Given the description of an element on the screen output the (x, y) to click on. 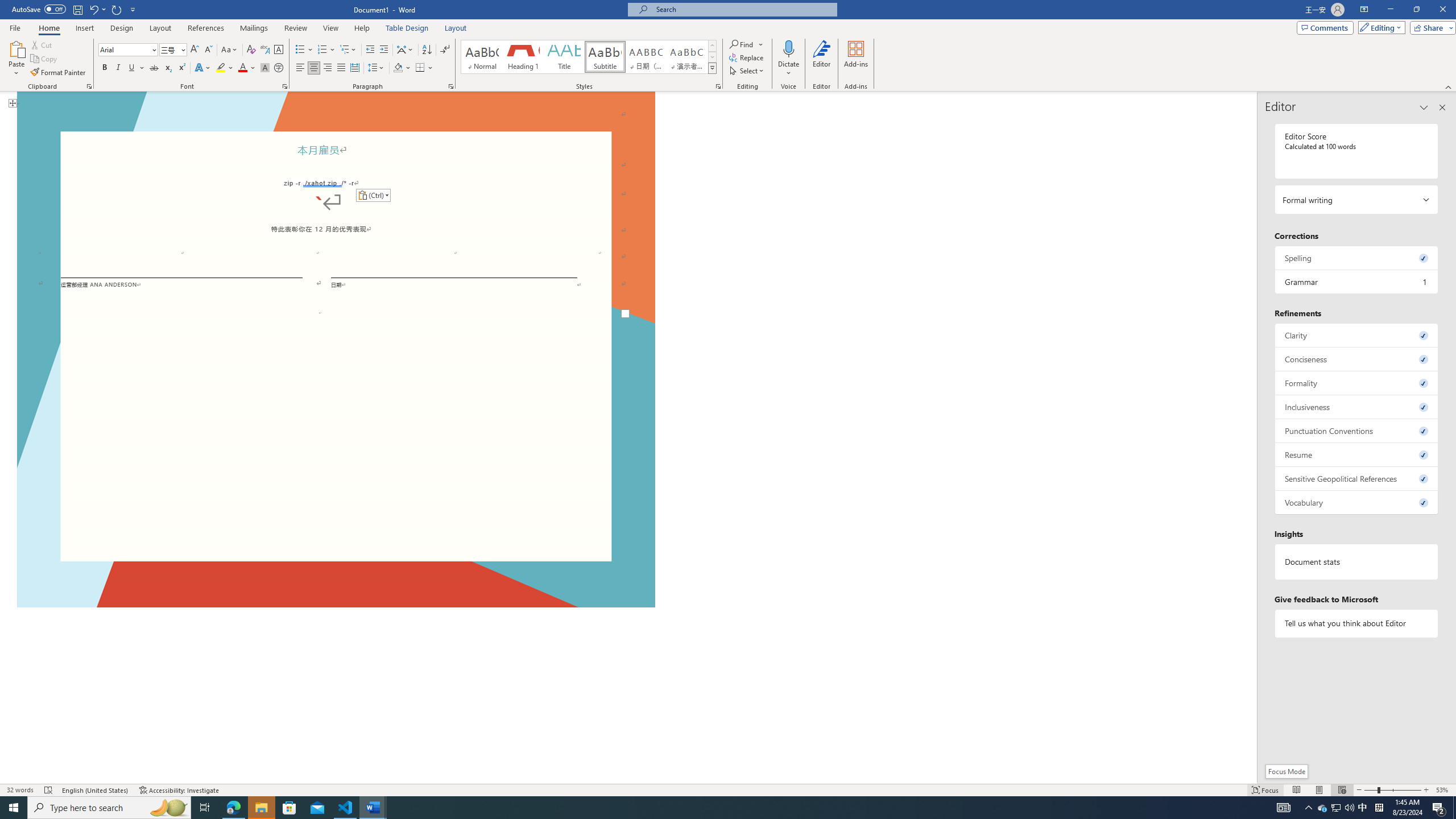
Vocabulary, 0 issues. Press space or enter to review items. (1356, 502)
Decorative (336, 346)
